Given the description of an element on the screen output the (x, y) to click on. 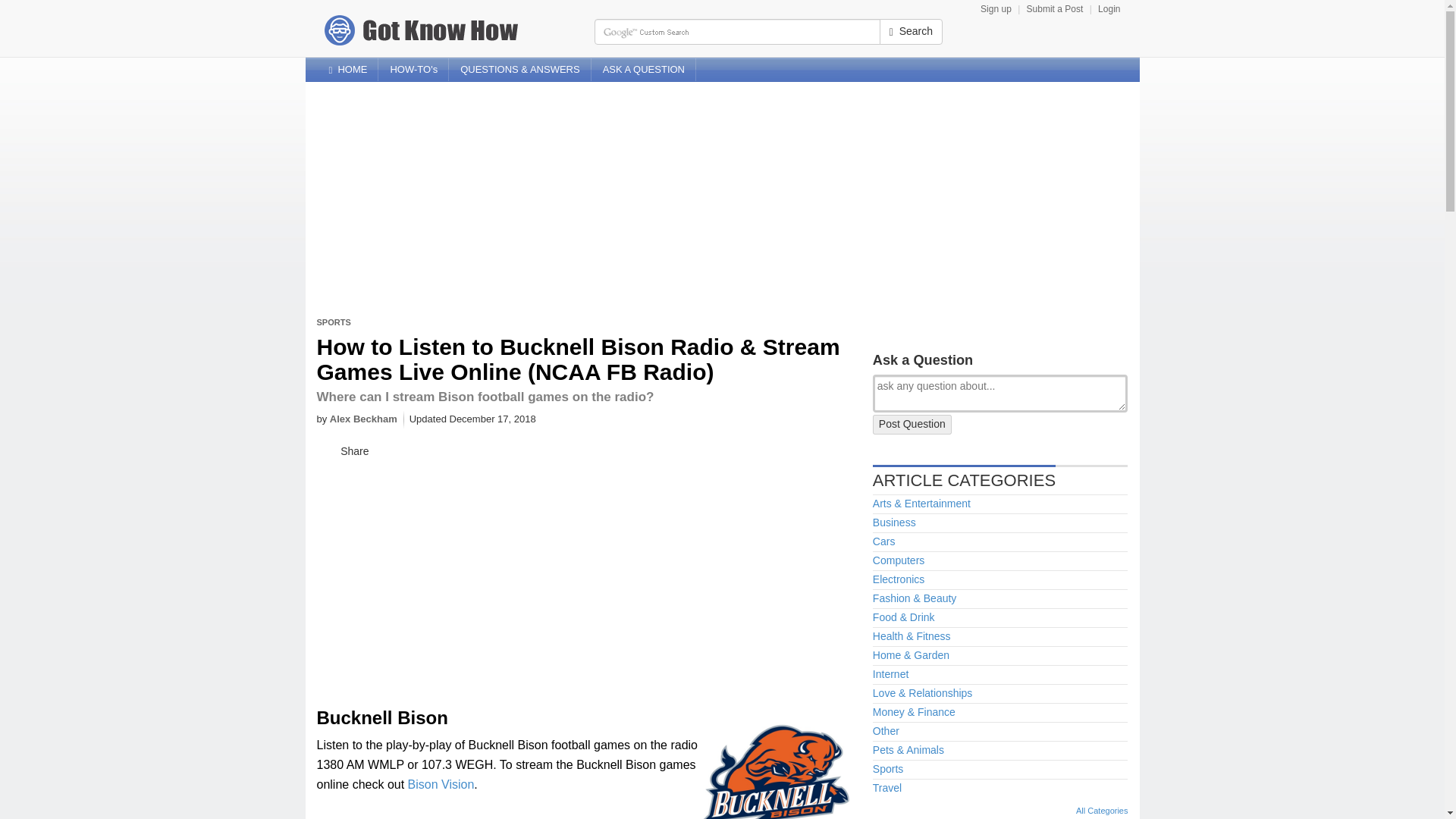
 Search (910, 31)
Alex Beckham (363, 419)
Advertisement (433, 575)
SPORTS (333, 321)
Submit a Post (1054, 9)
Sign up (995, 9)
Bison Vision (440, 784)
Twitter Profile (1127, 62)
Post Question (912, 424)
Facebook Page (1104, 62)
HOW-TO's (413, 69)
 HOME (347, 69)
Login (1108, 9)
ASK A QUESTION (643, 69)
